Given the description of an element on the screen output the (x, y) to click on. 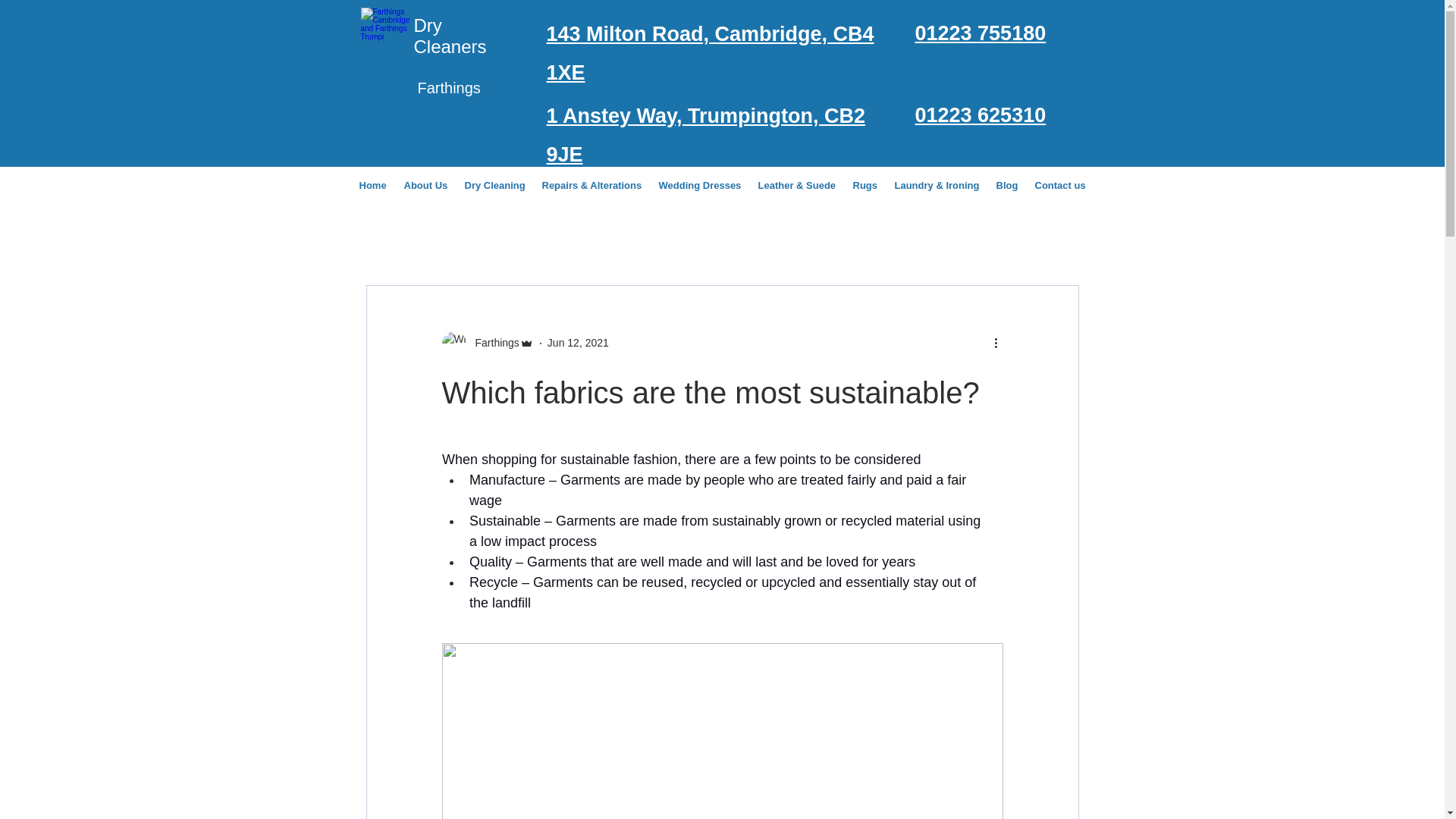
Home (374, 185)
Farthings (486, 342)
143 Milton Road, Cambridge, CB4 1XE (709, 53)
Wedding Dresses (699, 185)
About Us (426, 185)
Jun 12, 2021 (577, 342)
Farthings (491, 342)
Rugs (865, 185)
Blog (1007, 185)
01223 755180 (979, 33)
1 Anstey Way, Trumpington, CB2 9JE (705, 135)
01223 625310 (979, 115)
Dry Cleaning (495, 185)
